Given the description of an element on the screen output the (x, y) to click on. 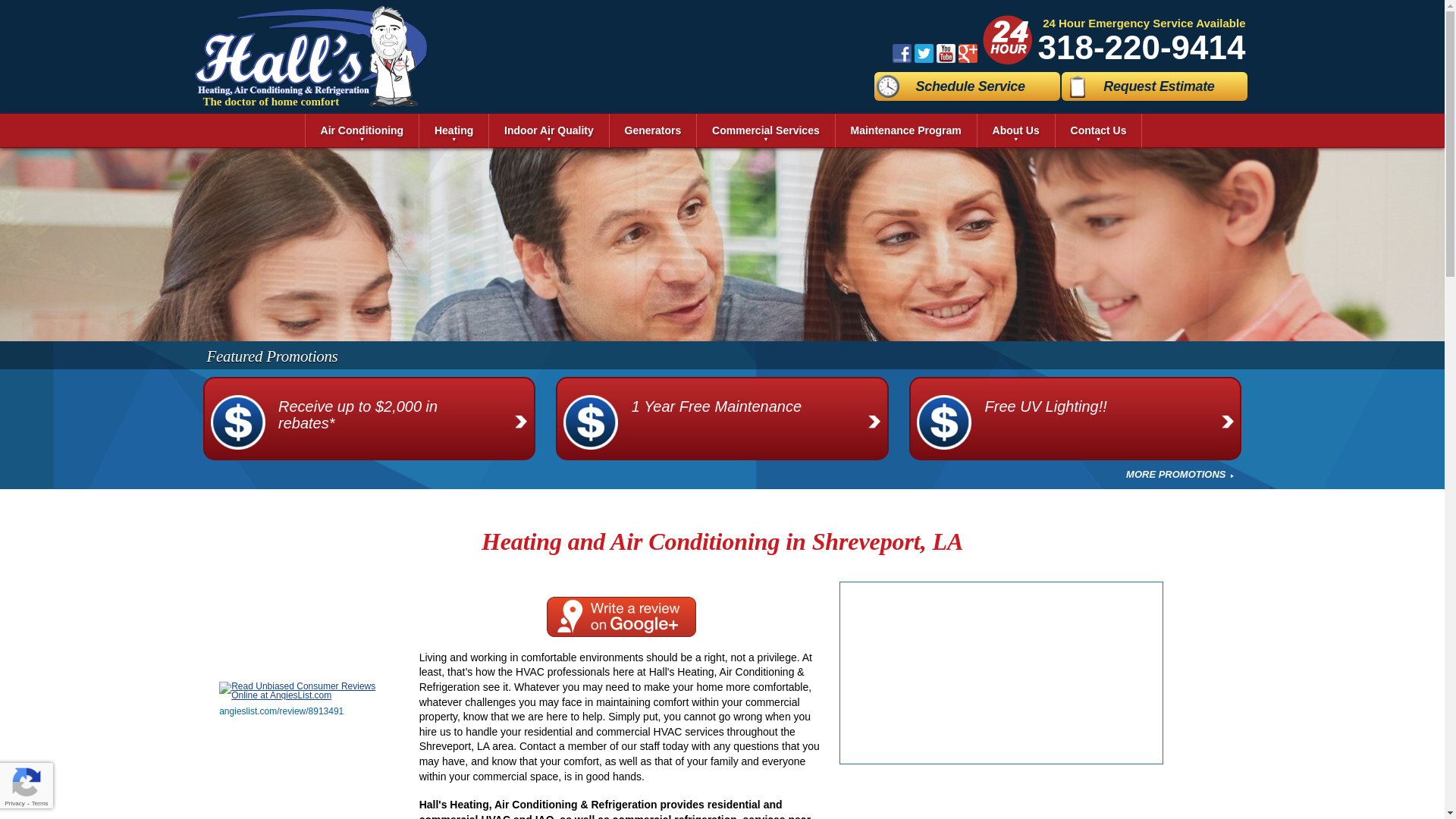
Google Plus (967, 53)
YouTube (945, 53)
Heating (453, 130)
318-220-9414 (1140, 47)
Twitter (923, 53)
Schedule Service (966, 86)
Air Conditioning (362, 130)
Indoor Air Quality (548, 130)
Facebook (901, 53)
Request Estimate (1154, 86)
